Given the description of an element on the screen output the (x, y) to click on. 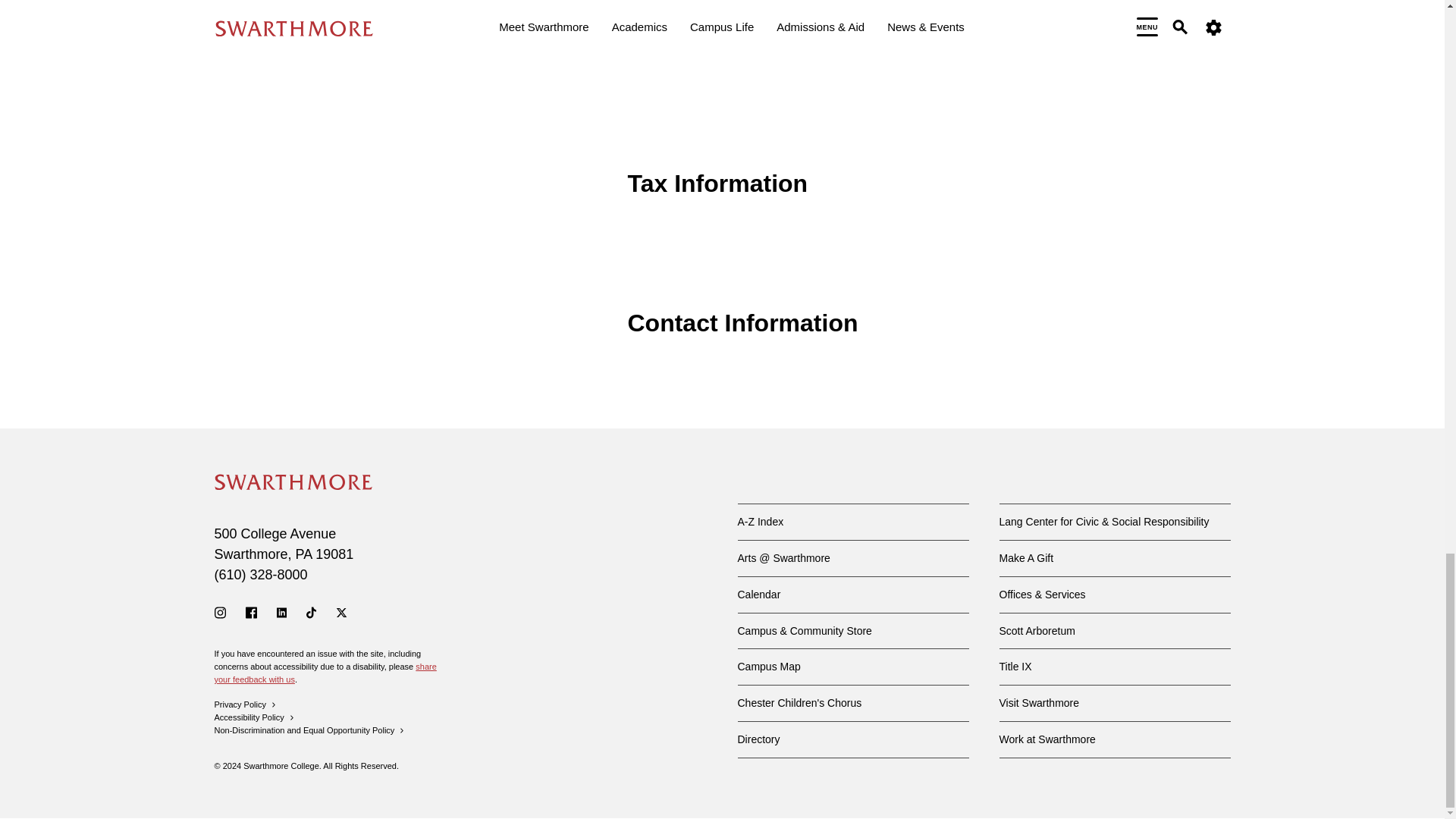
Swarthmore College - Home (292, 482)
Instagram (219, 612)
Facebook (251, 612)
Pennsylvania (304, 554)
